Given the description of an element on the screen output the (x, y) to click on. 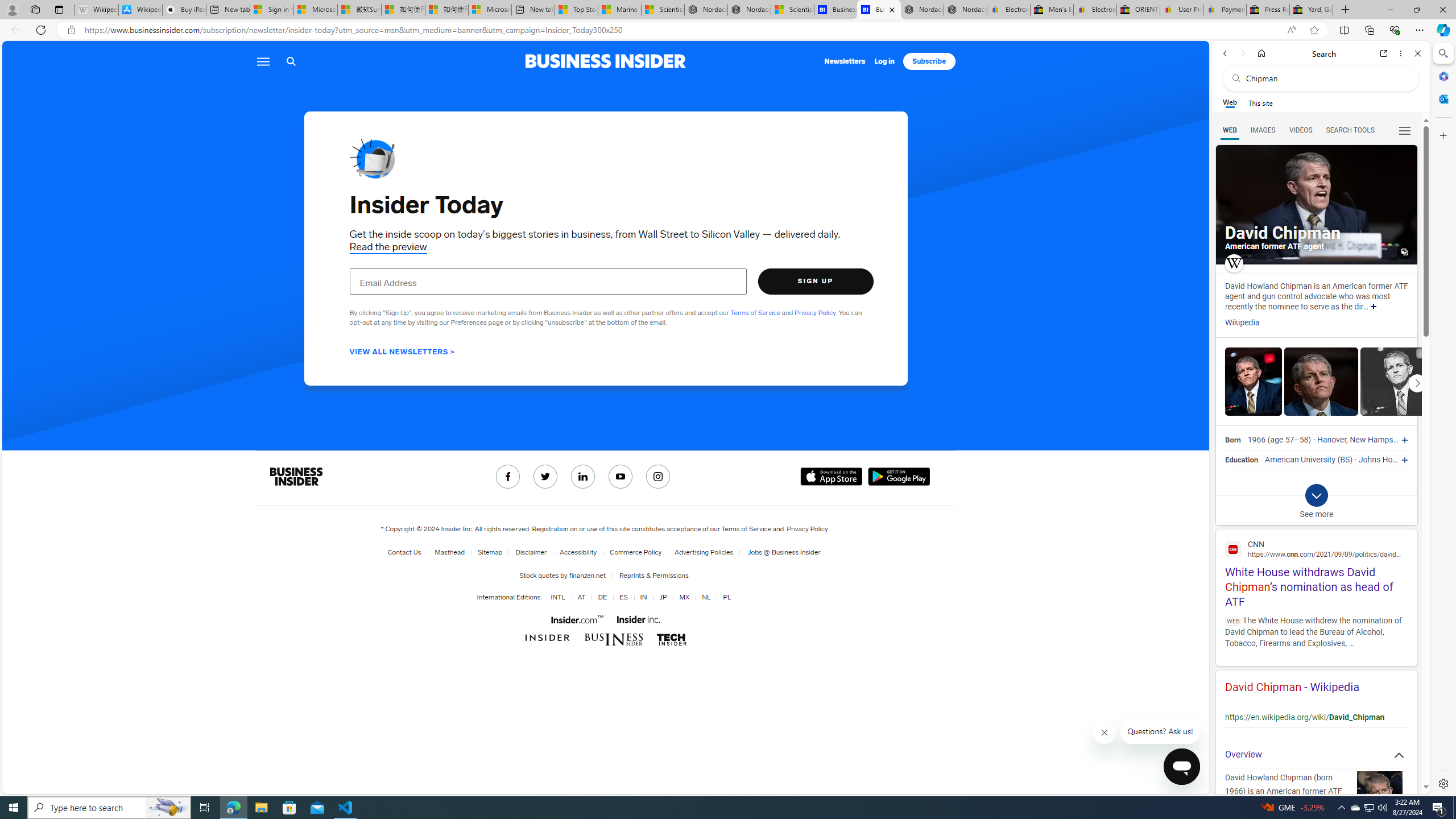
Subscribe (928, 61)
Click to visit us on Instagram (658, 476)
Education (1240, 459)
Insider.com TM Logo (576, 619)
Sitemap (489, 552)
INTL (557, 597)
Questions? Ask us! (1161, 731)
Reprints and Permissions (653, 575)
Open messaging window (1181, 766)
Class: sc-1k07fow-1 cbnSms (1181, 766)
